Given the description of an element on the screen output the (x, y) to click on. 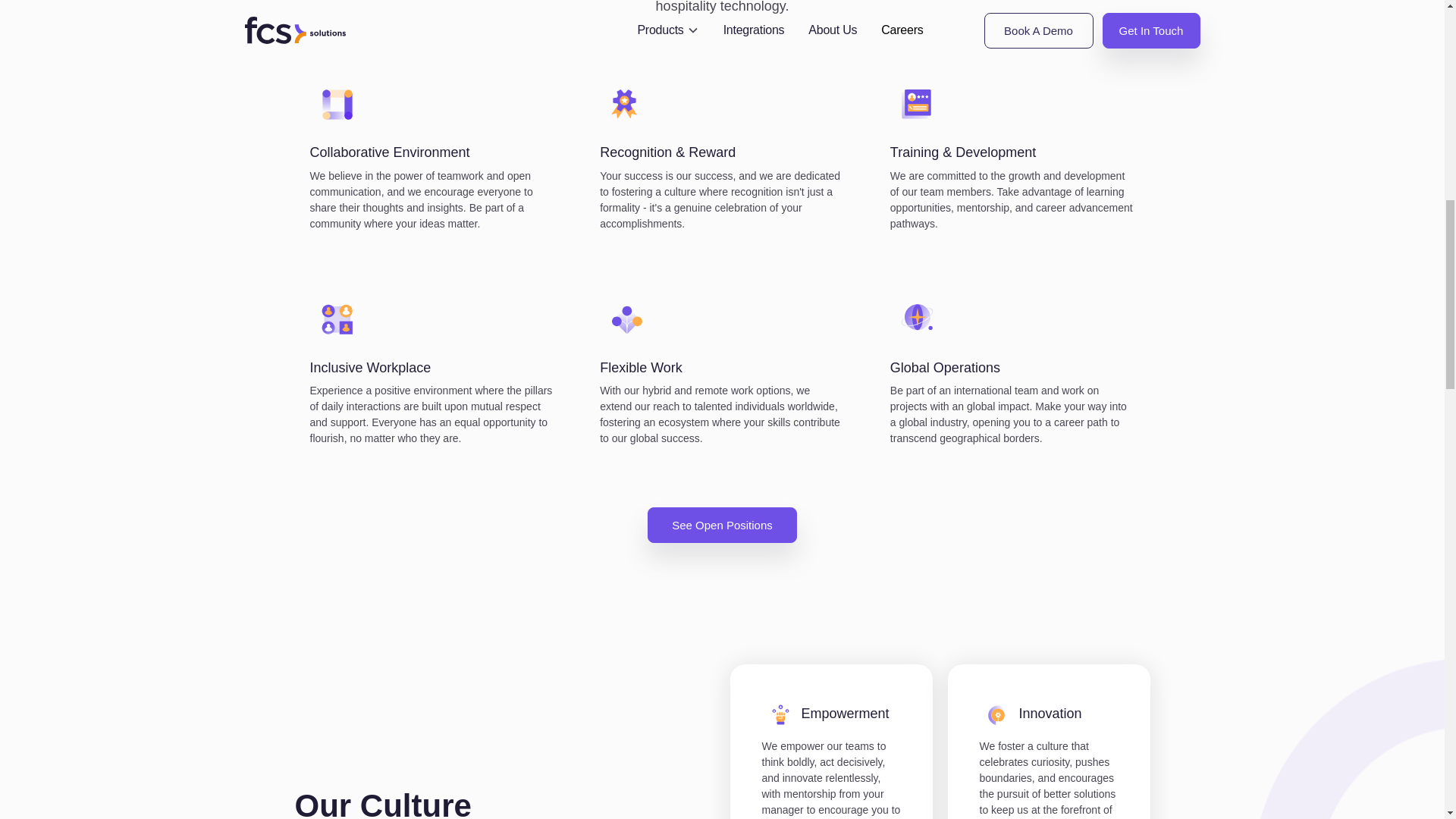
See Open Positions (721, 524)
